Given the description of an element on the screen output the (x, y) to click on. 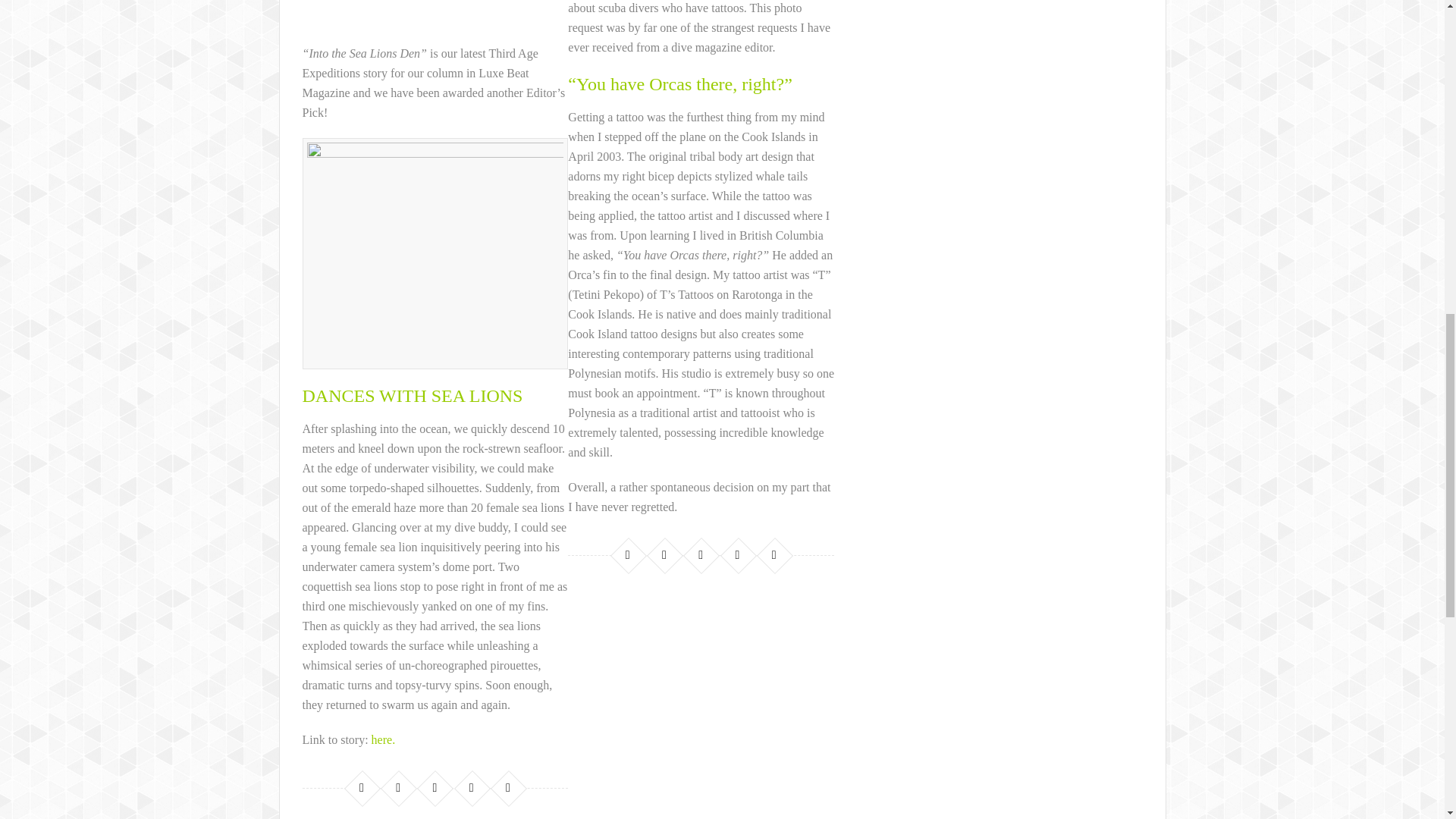
Share on Pinterest (737, 554)
Send this article to a friend! (773, 554)
Share on Facebook (361, 787)
Send this article to a friend! (507, 787)
Share on Twitter (397, 787)
Share on Twitter (664, 554)
Share on Pinterest (471, 787)
Share on LinkedIn (434, 787)
Share on Facebook (627, 554)
Share on LinkedIn (700, 554)
